Given the description of an element on the screen output the (x, y) to click on. 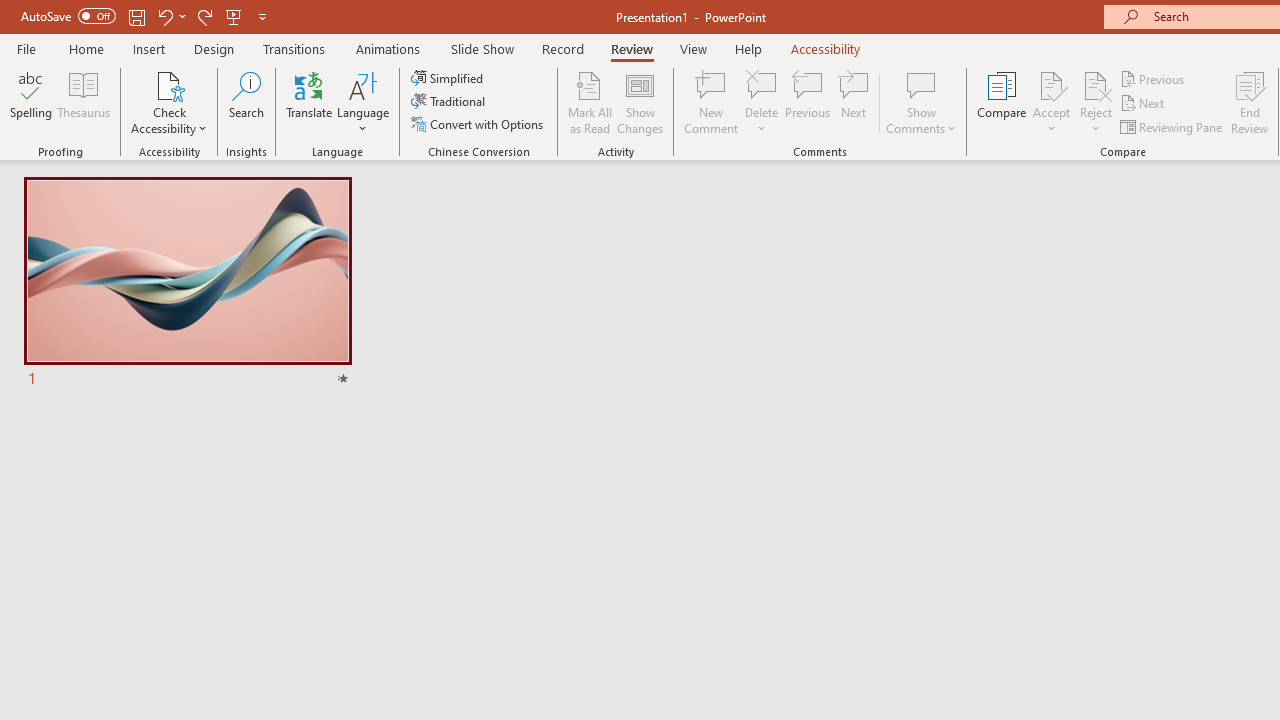
Accept Change (1051, 84)
Translate (309, 102)
End Review (1249, 102)
Convert with Options... (479, 124)
Reviewing Pane (1172, 126)
New Comment (711, 102)
